Given the description of an element on the screen output the (x, y) to click on. 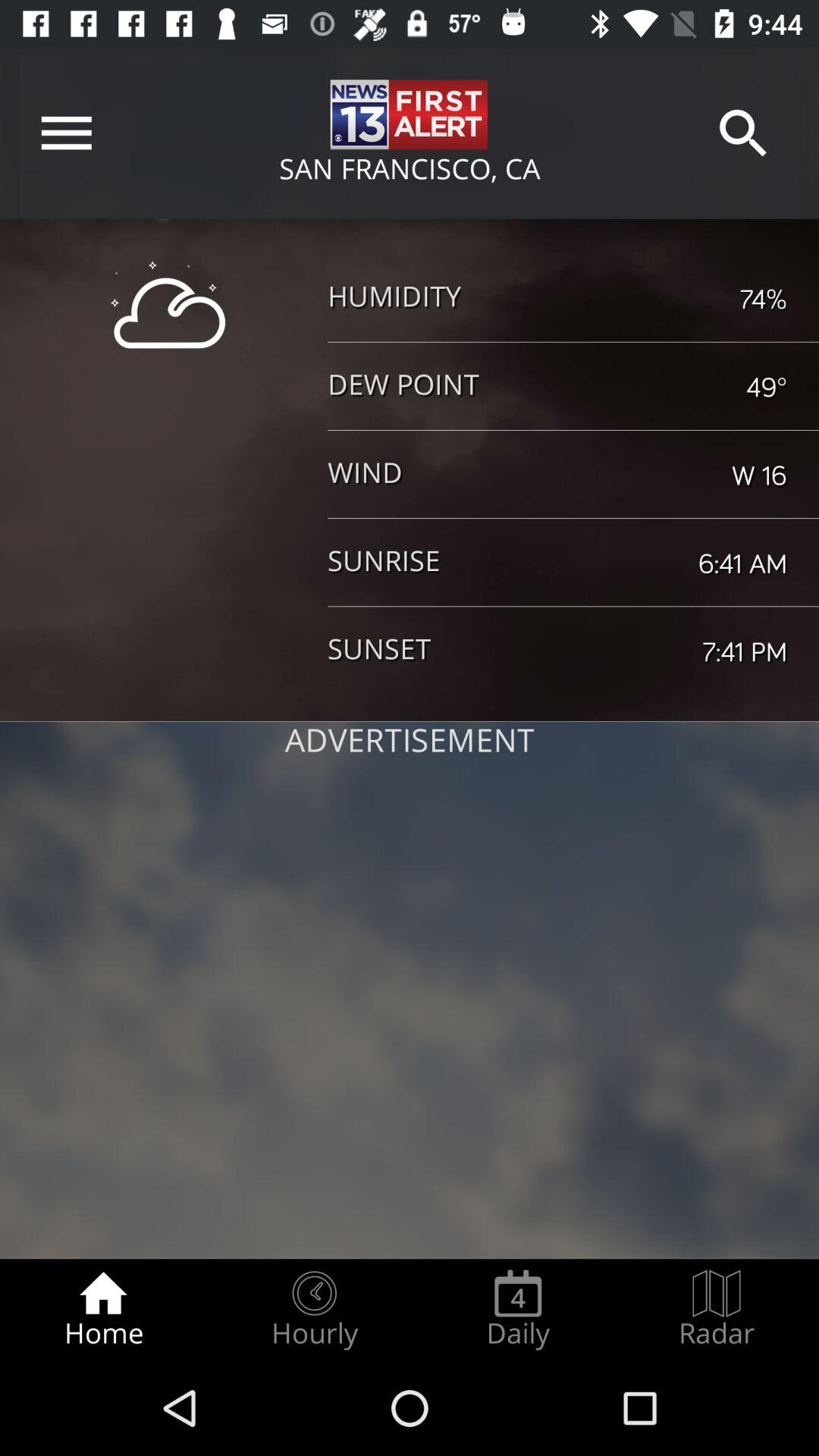
turn off item next to the daily icon (314, 1309)
